Given the description of an element on the screen output the (x, y) to click on. 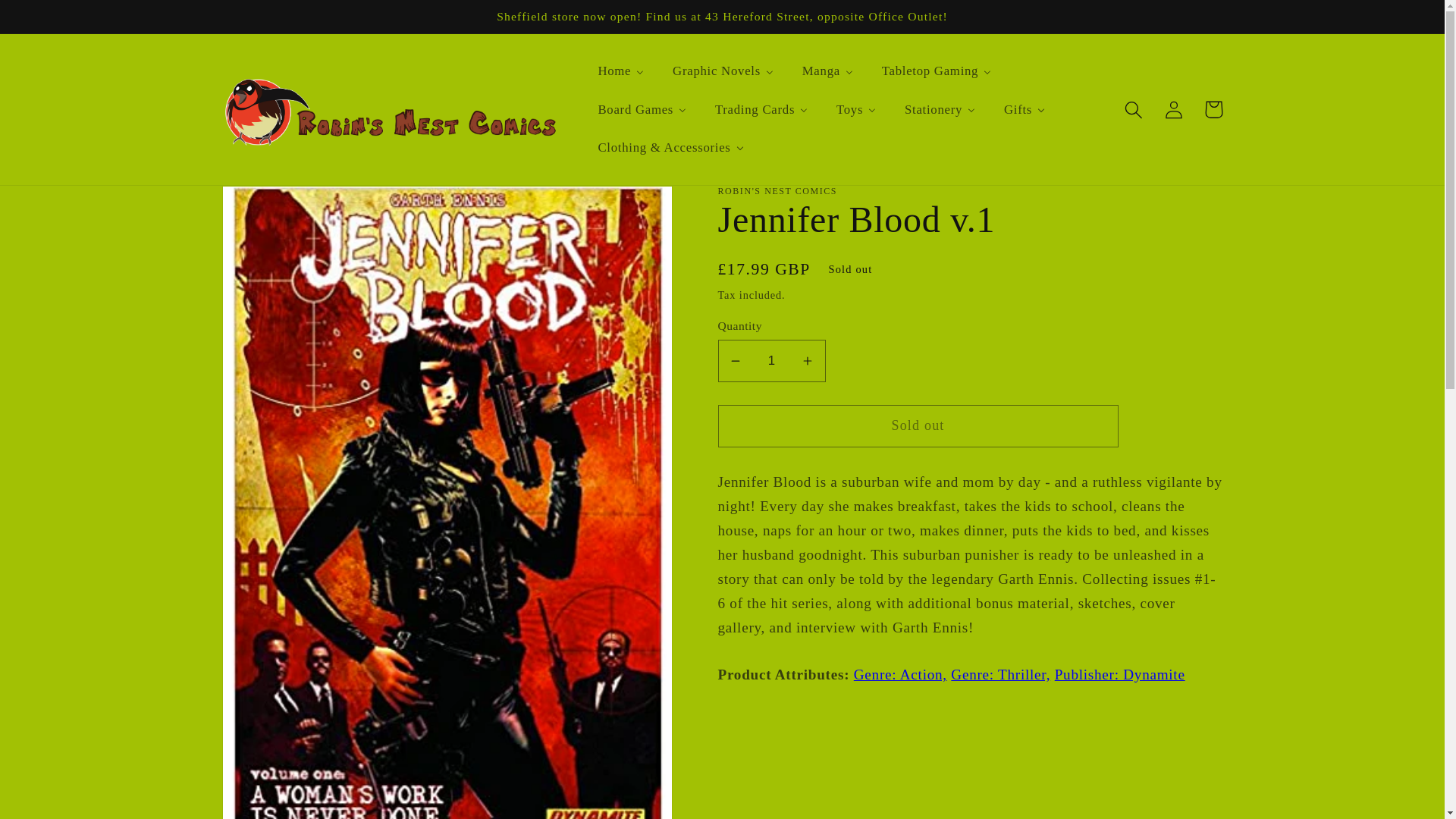
Skip to content (55, 20)
1 (771, 360)
